Given the description of an element on the screen output the (x, y) to click on. 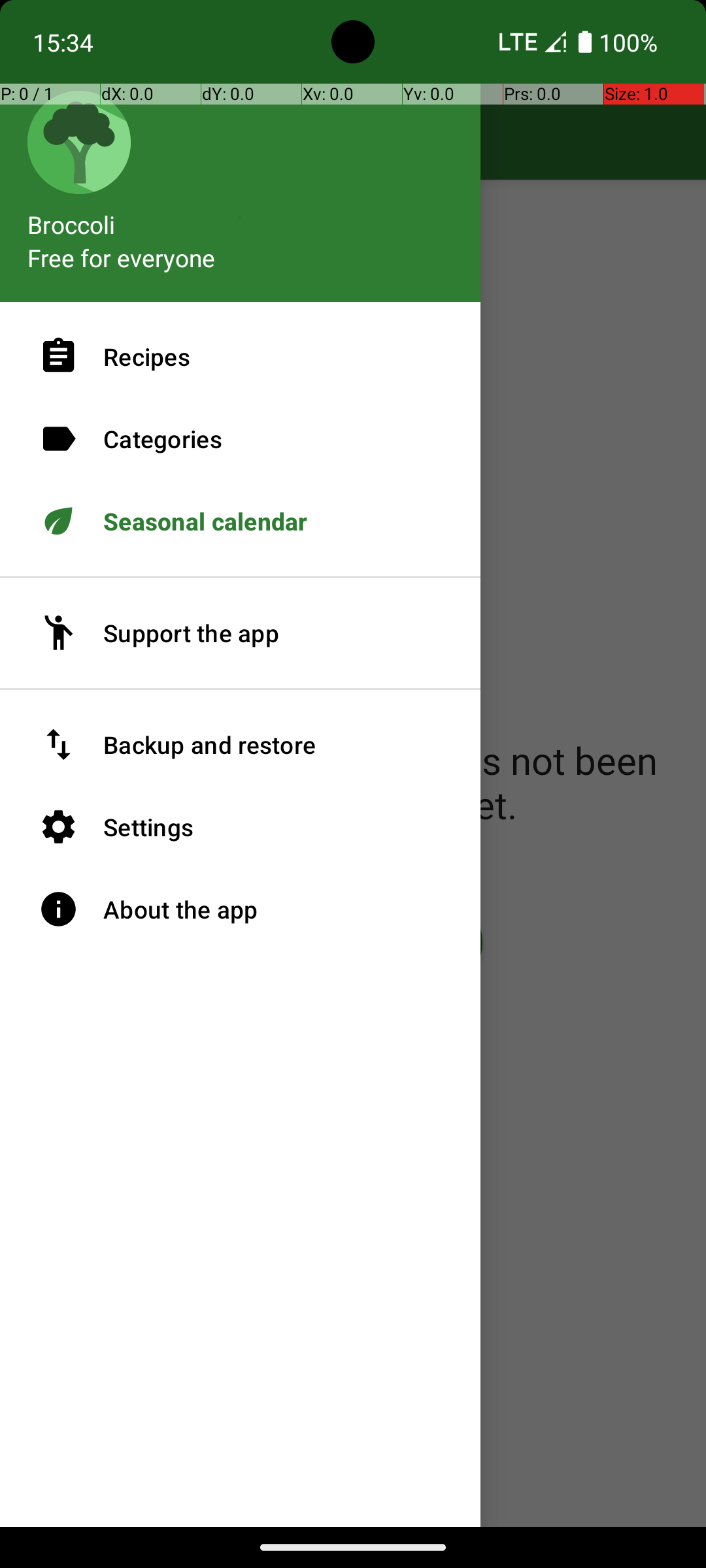
Free for everyone Element type: android.widget.TextView (121, 257)
Support the app Element type: android.widget.CheckedTextView (239, 632)
